Given the description of an element on the screen output the (x, y) to click on. 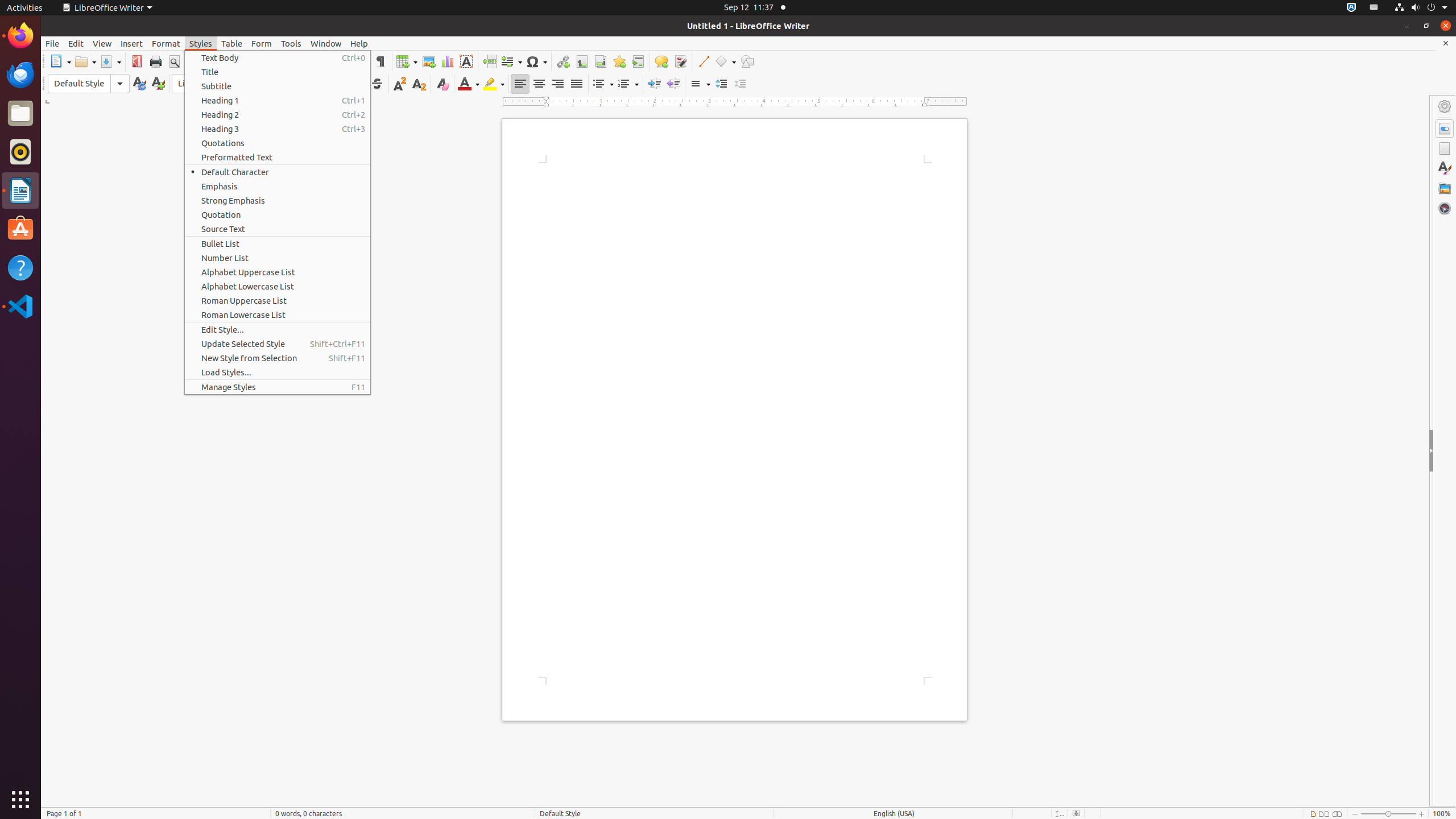
Manage Styles Element type: menu-item (277, 386)
Number List Element type: radio-menu-item (277, 257)
Roman Lowercase List Element type: radio-menu-item (277, 314)
Center Element type: toggle-button (538, 83)
Formatting Marks Element type: toggle-button (379, 61)
